Given the description of an element on the screen output the (x, y) to click on. 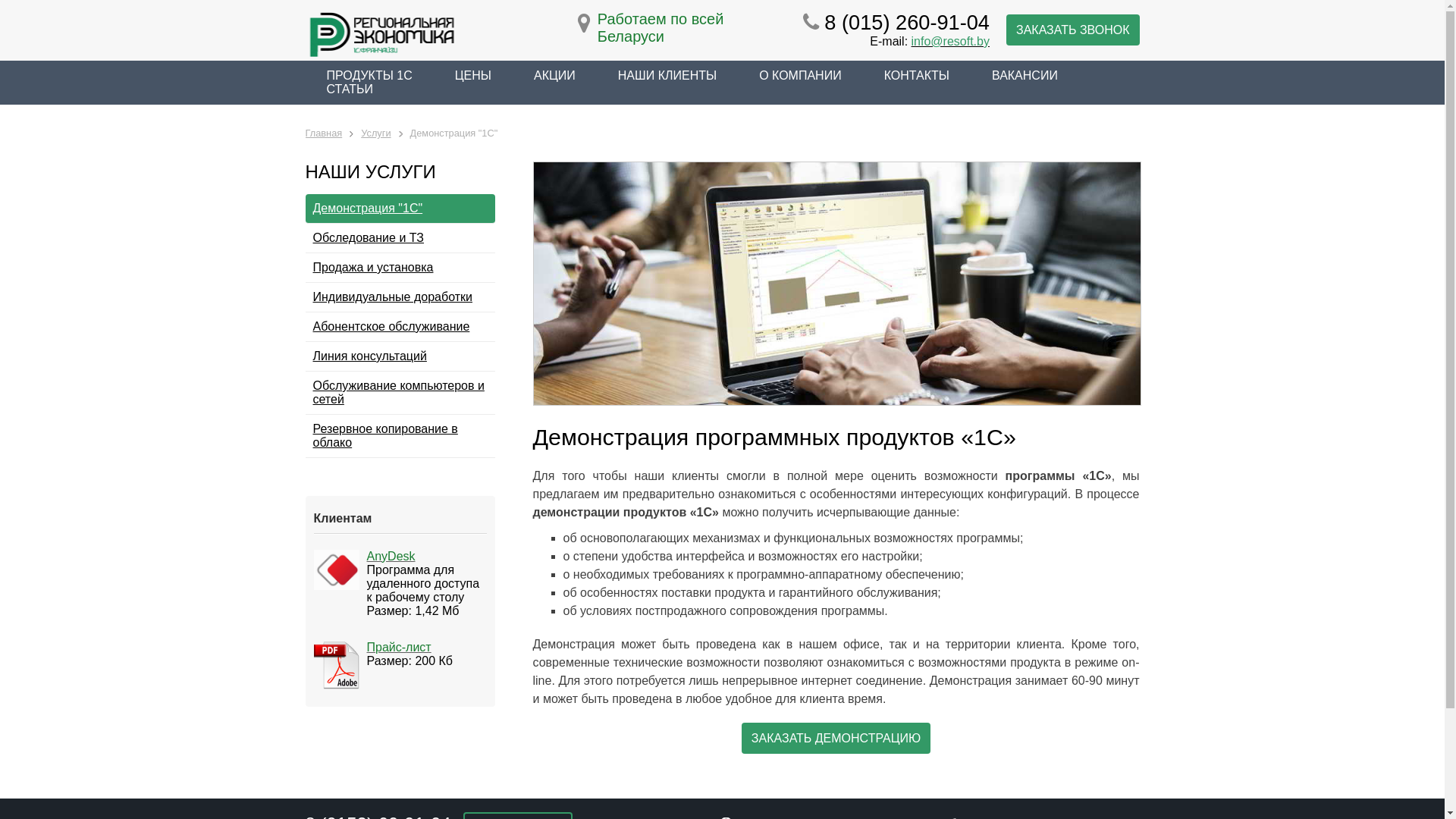
info@resoft.by Element type: text (950, 40)
AnyDesk Element type: text (391, 556)
